Given the description of an element on the screen output the (x, y) to click on. 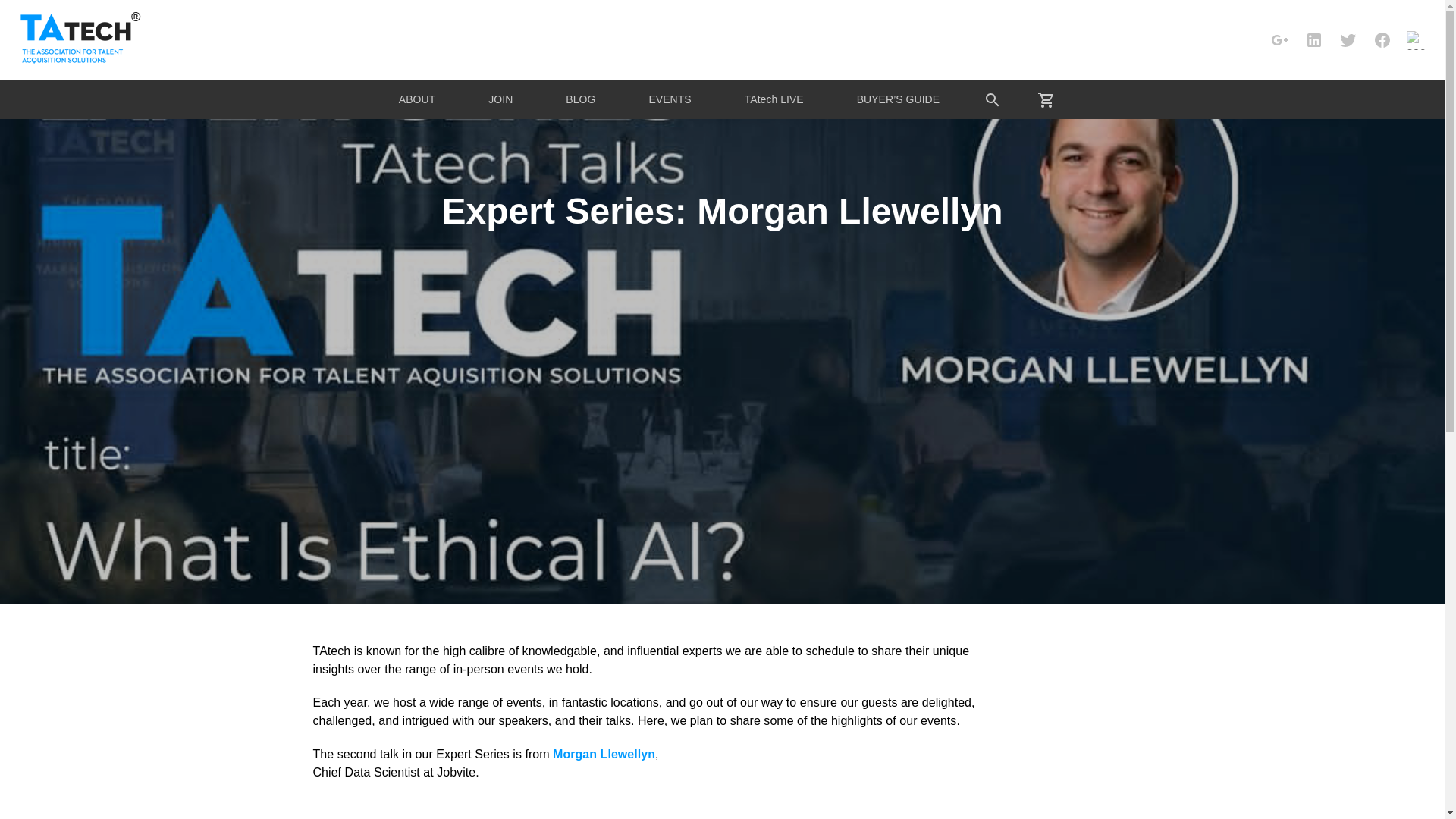
JOIN (499, 99)
EVENTS (669, 99)
TAtech LIVE (773, 99)
Search Button (992, 99)
BLOG (579, 99)
ABOUT (416, 99)
Morgan Llewellyn, TAtech Chicago, Oct 2022 (722, 813)
